Given the description of an element on the screen output the (x, y) to click on. 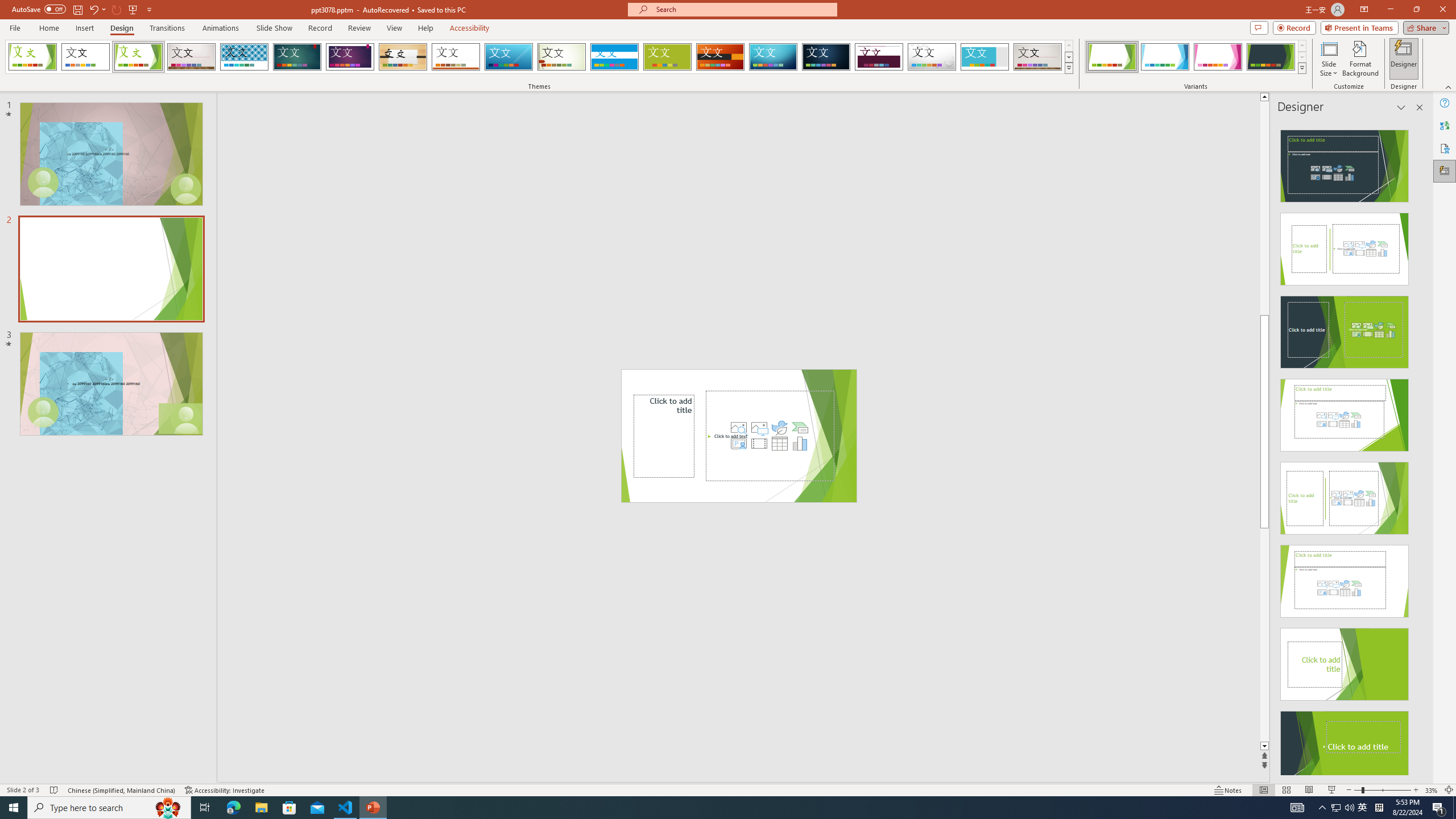
Damask (826, 56)
Facet Variant 1 (1112, 56)
Insert Cameo (738, 443)
Insert a SmartArt Graphic (799, 427)
Berlin (720, 56)
